Given the description of an element on the screen output the (x, y) to click on. 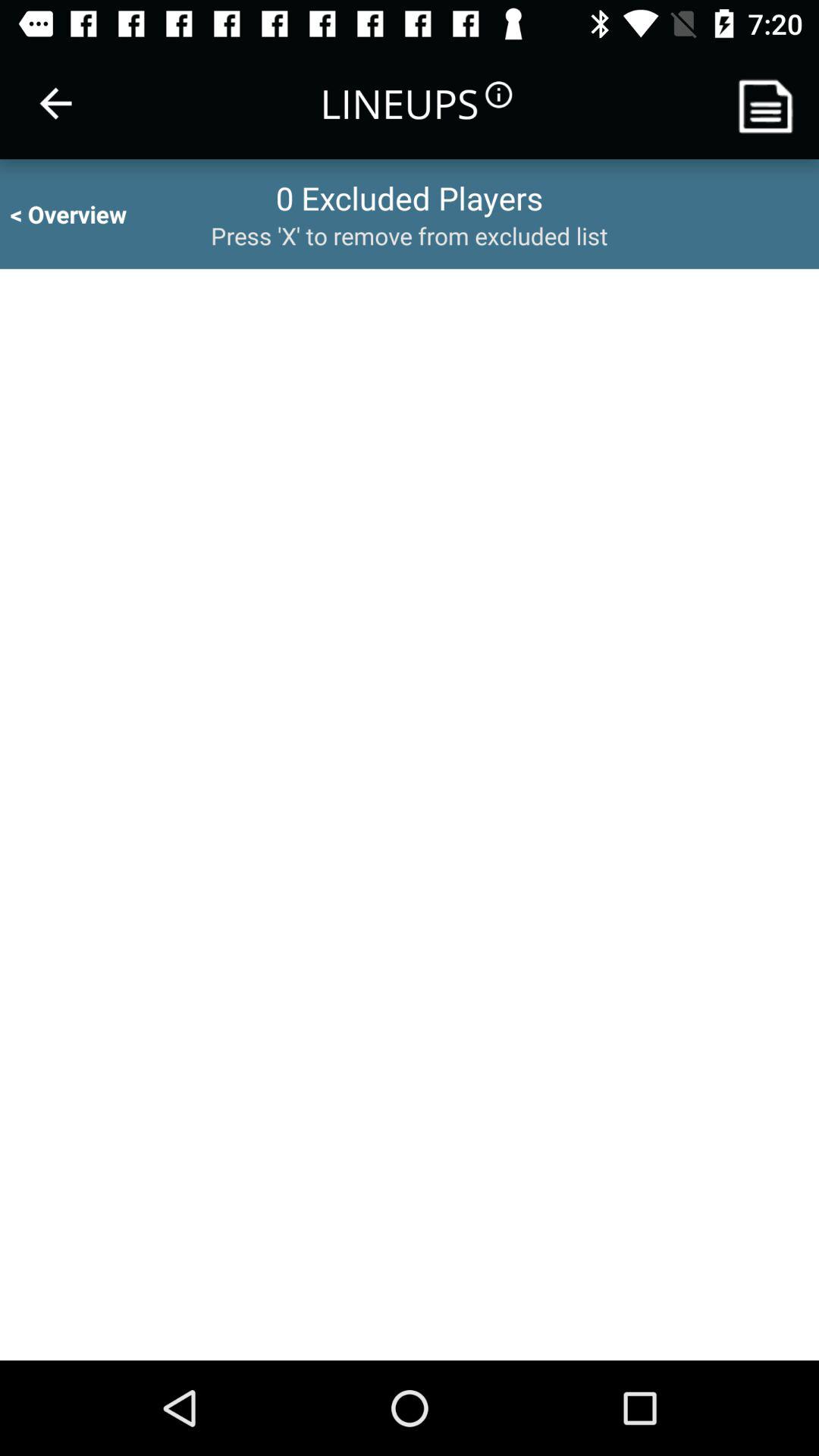
select the item at the top right corner (771, 103)
